Given the description of an element on the screen output the (x, y) to click on. 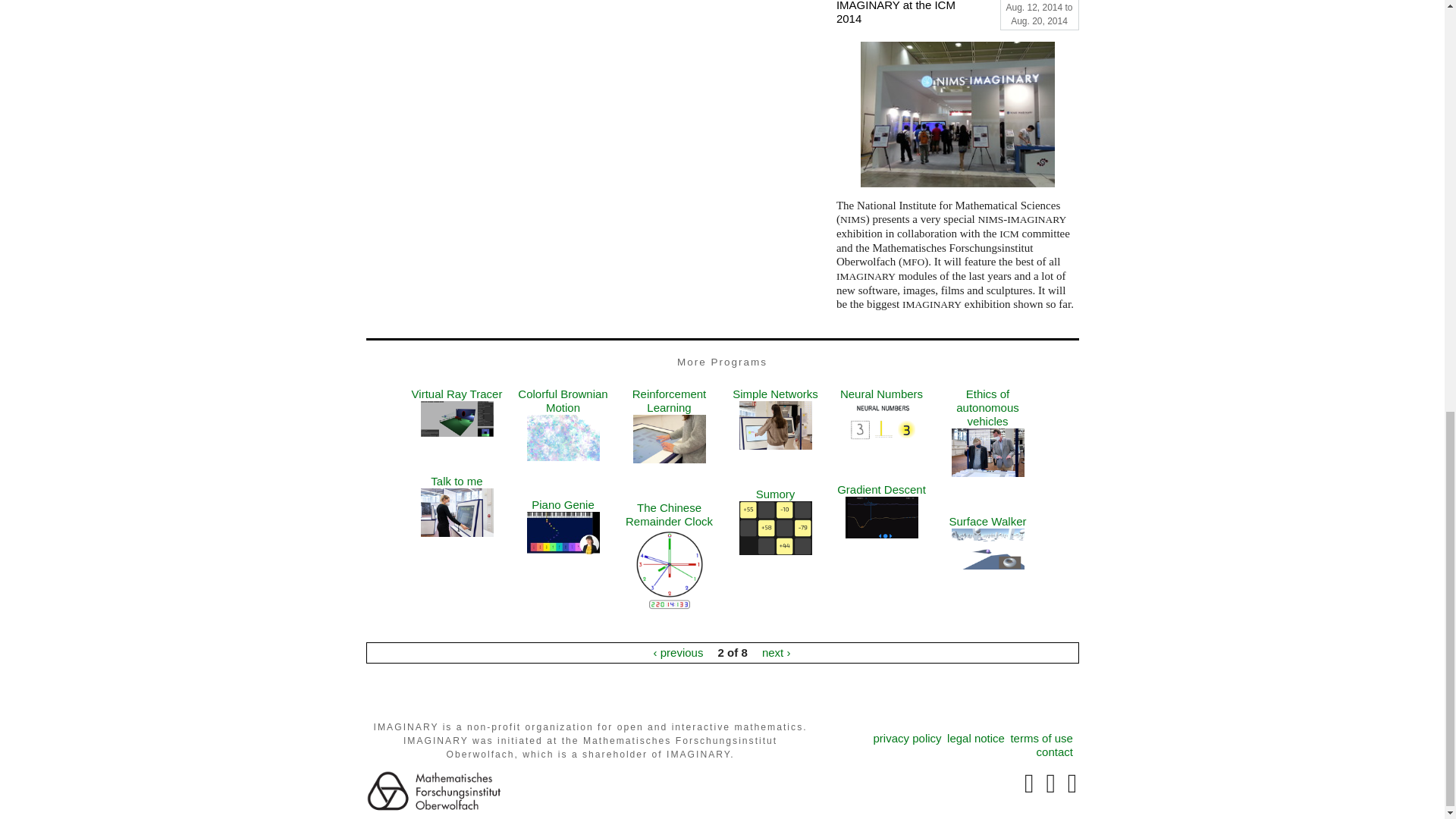
IMAGINARY at the ICM 2014 (903, 15)
